Given the description of an element on the screen output the (x, y) to click on. 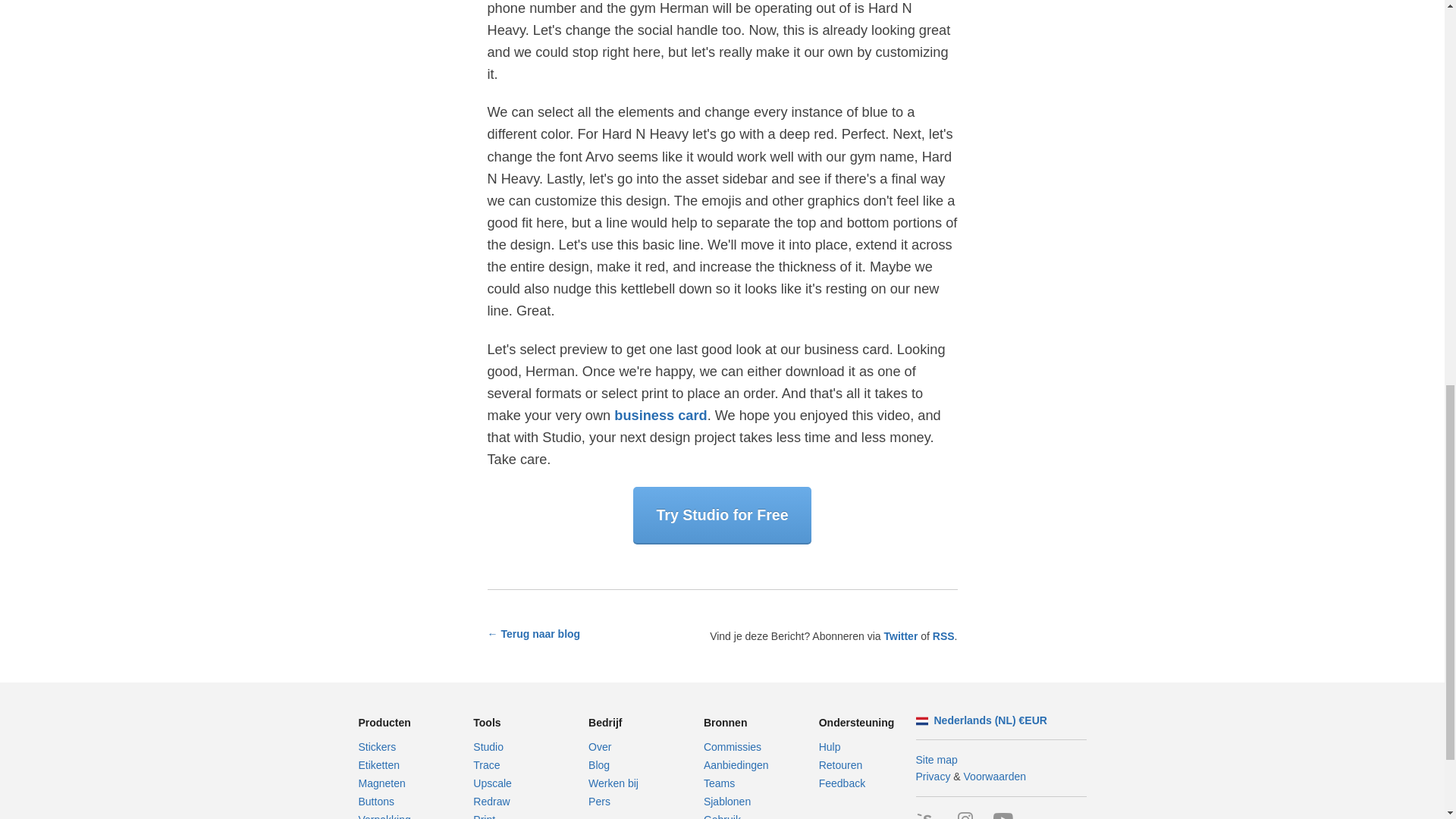
Abonneren via RSS (944, 635)
Volg ons op twitter (900, 635)
